Given the description of an element on the screen output the (x, y) to click on. 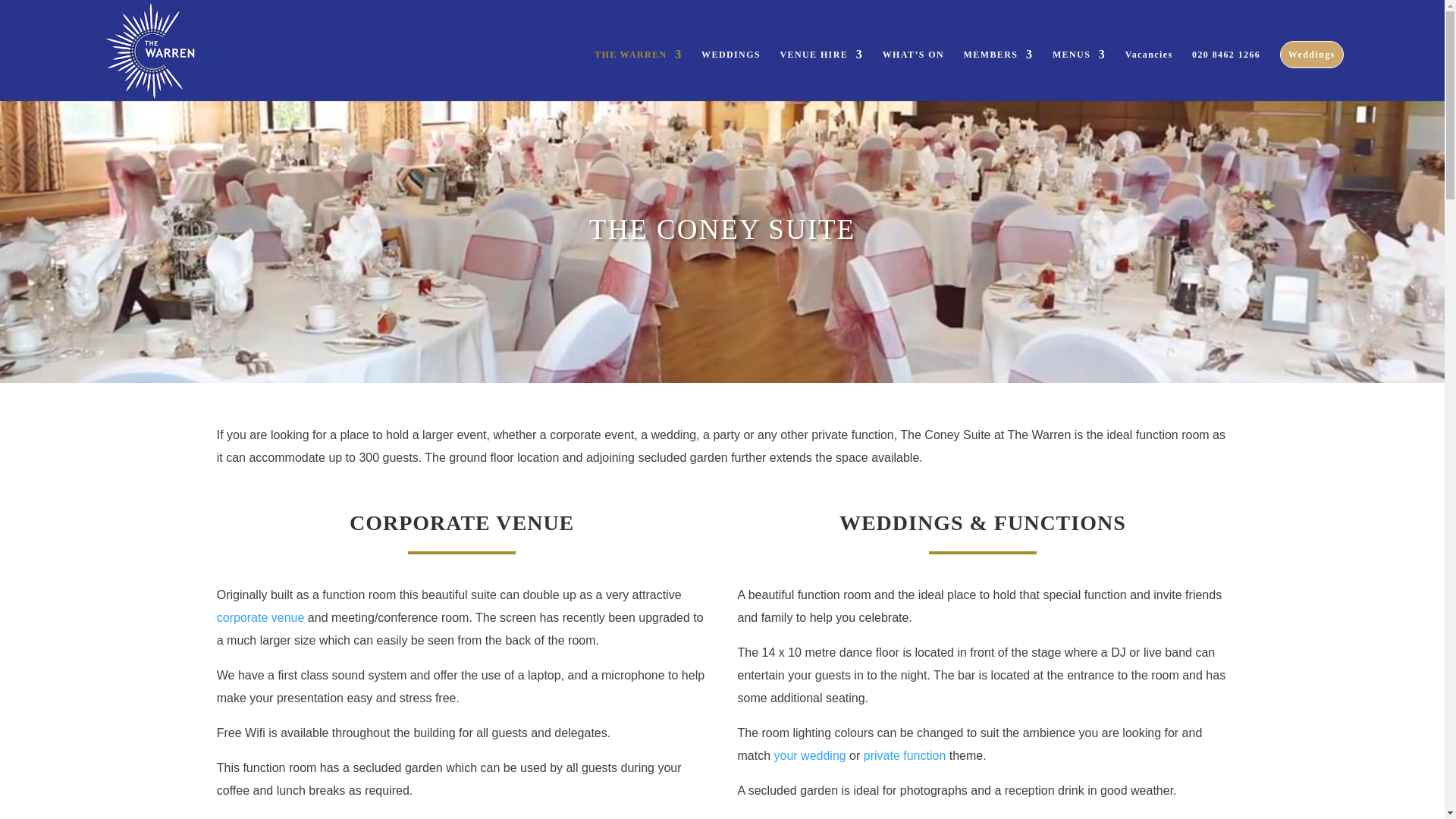
MEMBERS (998, 74)
VENUE HIRE (820, 74)
WEDDINGS (730, 74)
MENUS (1078, 74)
THE WARREN (637, 74)
